Given the description of an element on the screen output the (x, y) to click on. 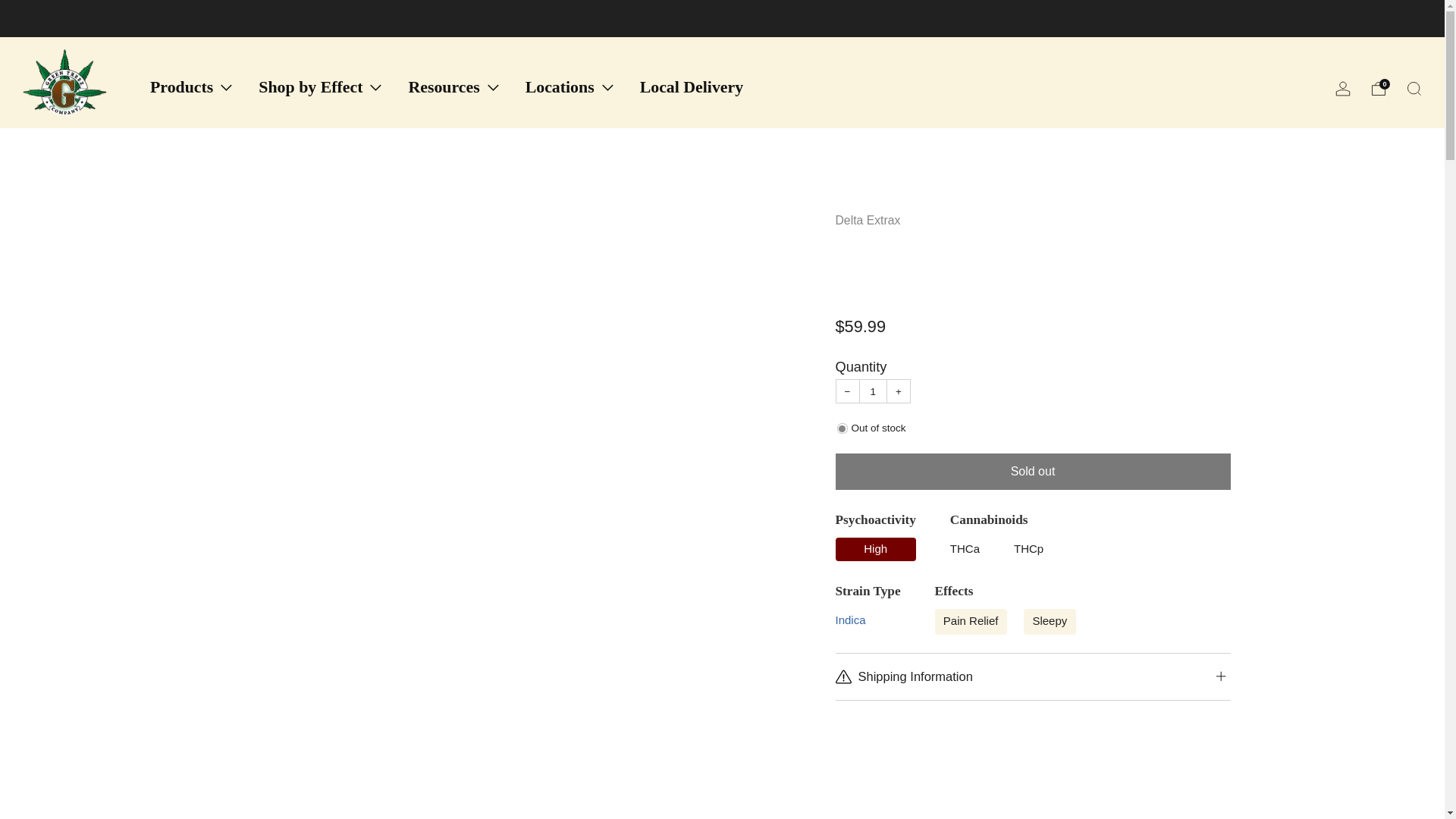
Shop by Effect (319, 86)
Delta Extrax (868, 219)
Resources (452, 86)
1 (872, 391)
Products (190, 86)
